Given the description of an element on the screen output the (x, y) to click on. 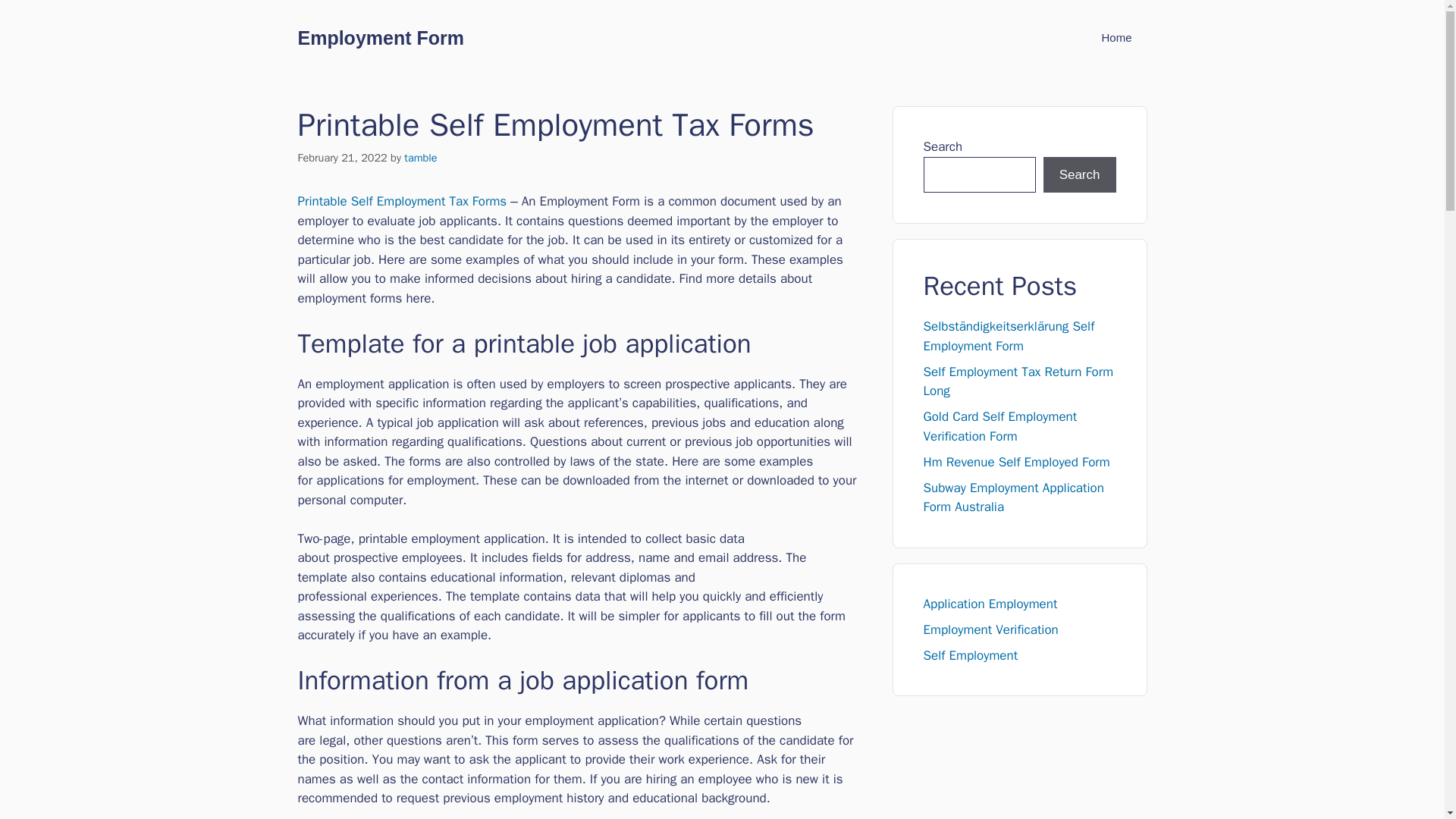
Gold Card Self Employment Verification Form (1000, 426)
Application Employment (990, 603)
Employment Verification (990, 629)
Self Employment (970, 655)
Self Employment Tax Return Form Long (1018, 381)
Subway Employment Application Form Australia (1013, 497)
Search (1079, 174)
Hm Revenue Self Employed Form (1016, 461)
tamble (420, 157)
View all posts by tamble (420, 157)
Printable Self Employment Tax Forms (401, 201)
Employment Form (380, 37)
Home (1116, 37)
